Given the description of an element on the screen output the (x, y) to click on. 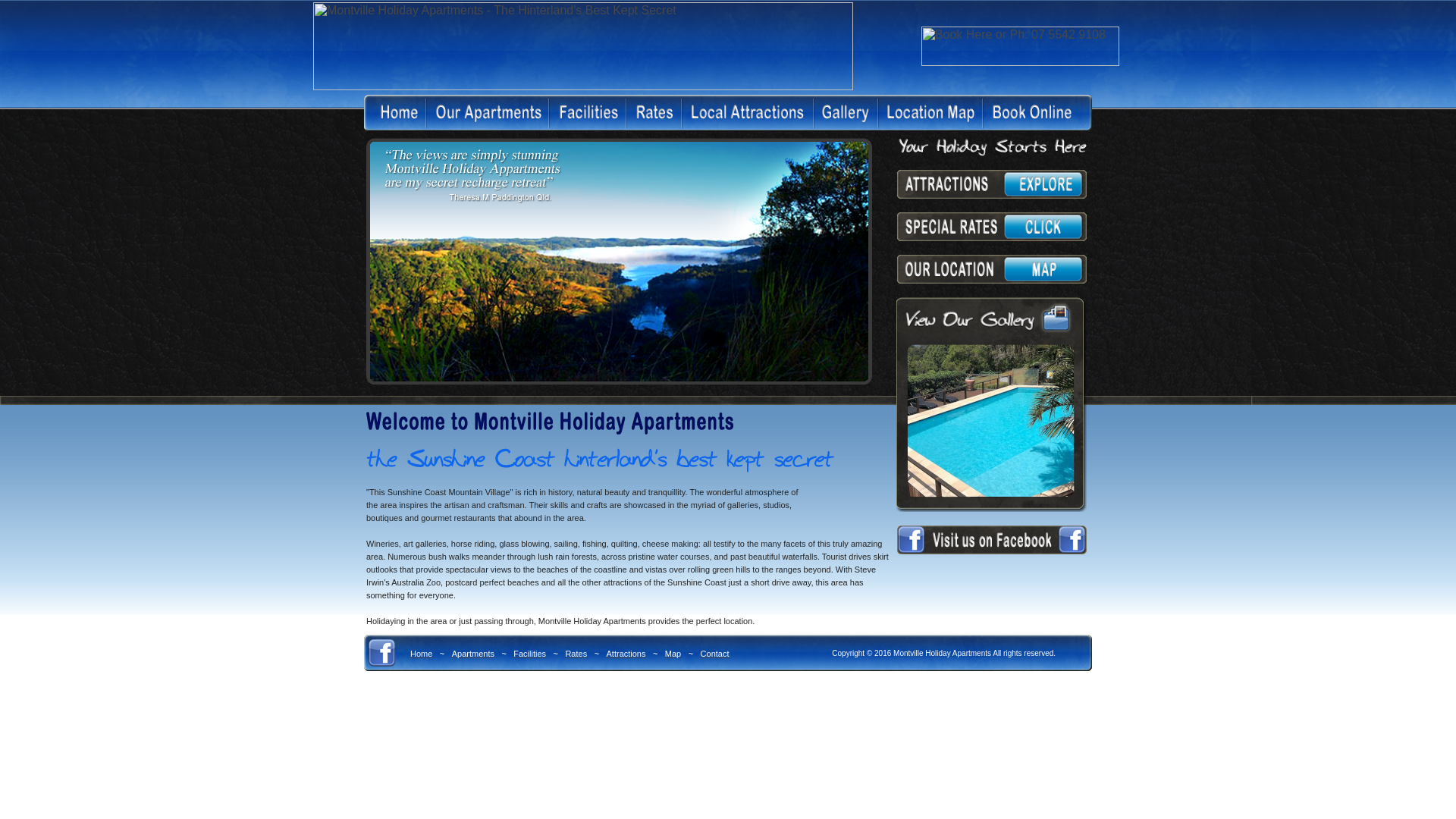
Map Element type: text (672, 652)
Facilities Element type: text (529, 652)
Attractions Element type: text (626, 652)
Contact Element type: text (714, 652)
Apartments Element type: text (472, 652)
Home Element type: text (421, 652)
Rates Element type: text (575, 652)
